Given the description of an element on the screen output the (x, y) to click on. 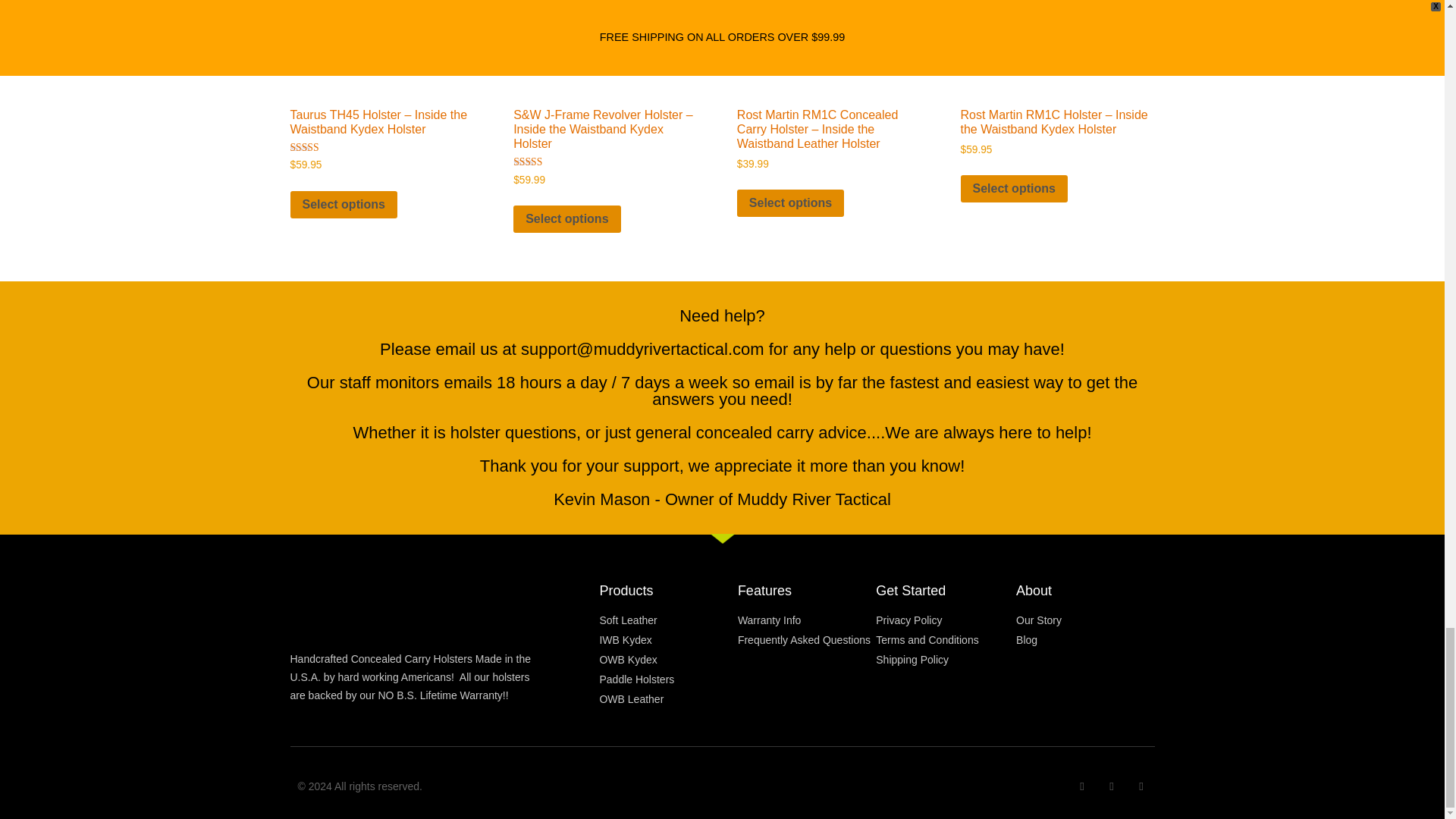
Select options (342, 204)
Select options (1013, 188)
Select options (566, 218)
Select options (790, 203)
